Given the description of an element on the screen output the (x, y) to click on. 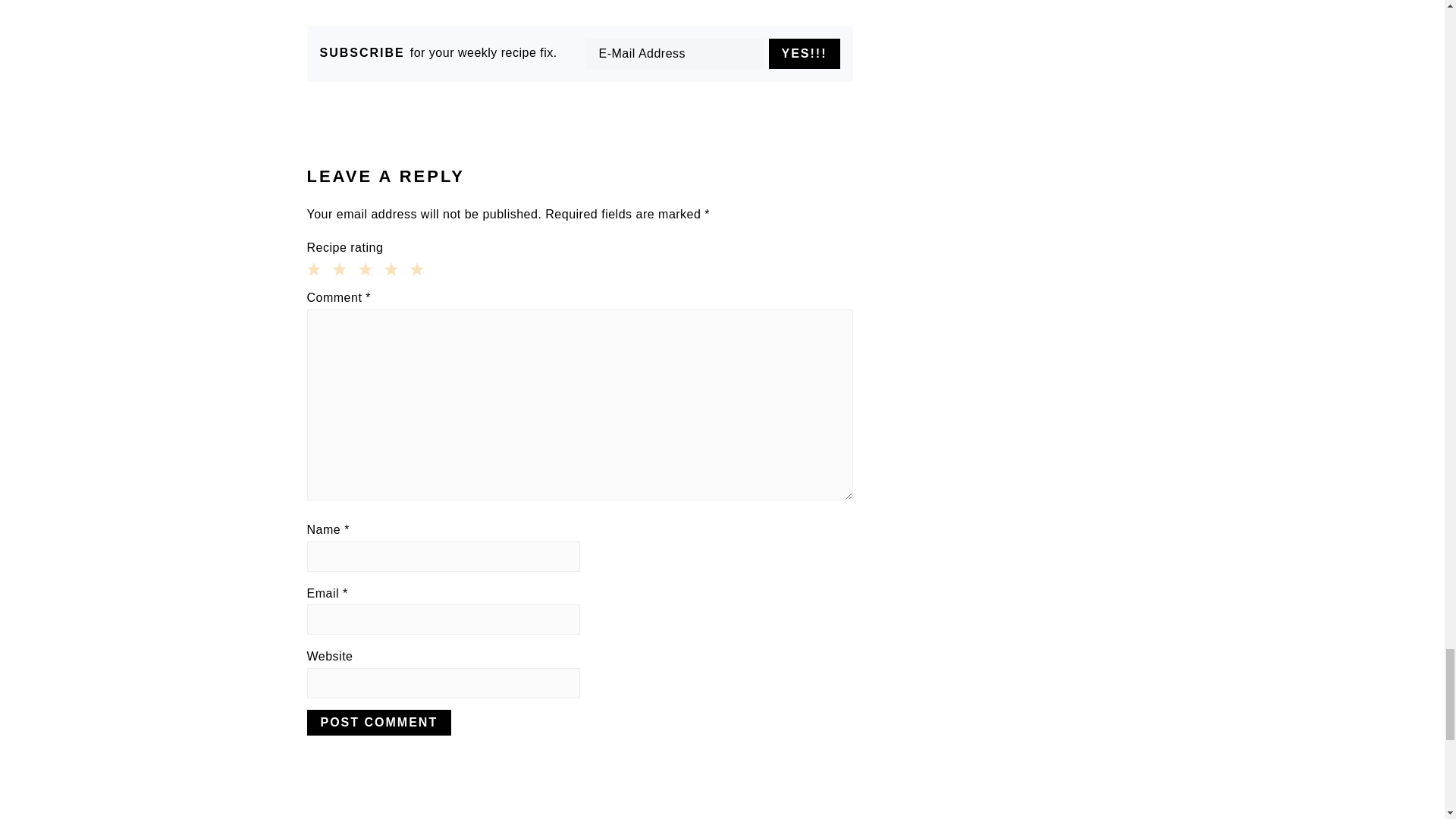
Post Comment (378, 722)
Yes!!! (804, 53)
Yes!!! (804, 53)
Post Comment (378, 722)
